Given the description of an element on the screen output the (x, y) to click on. 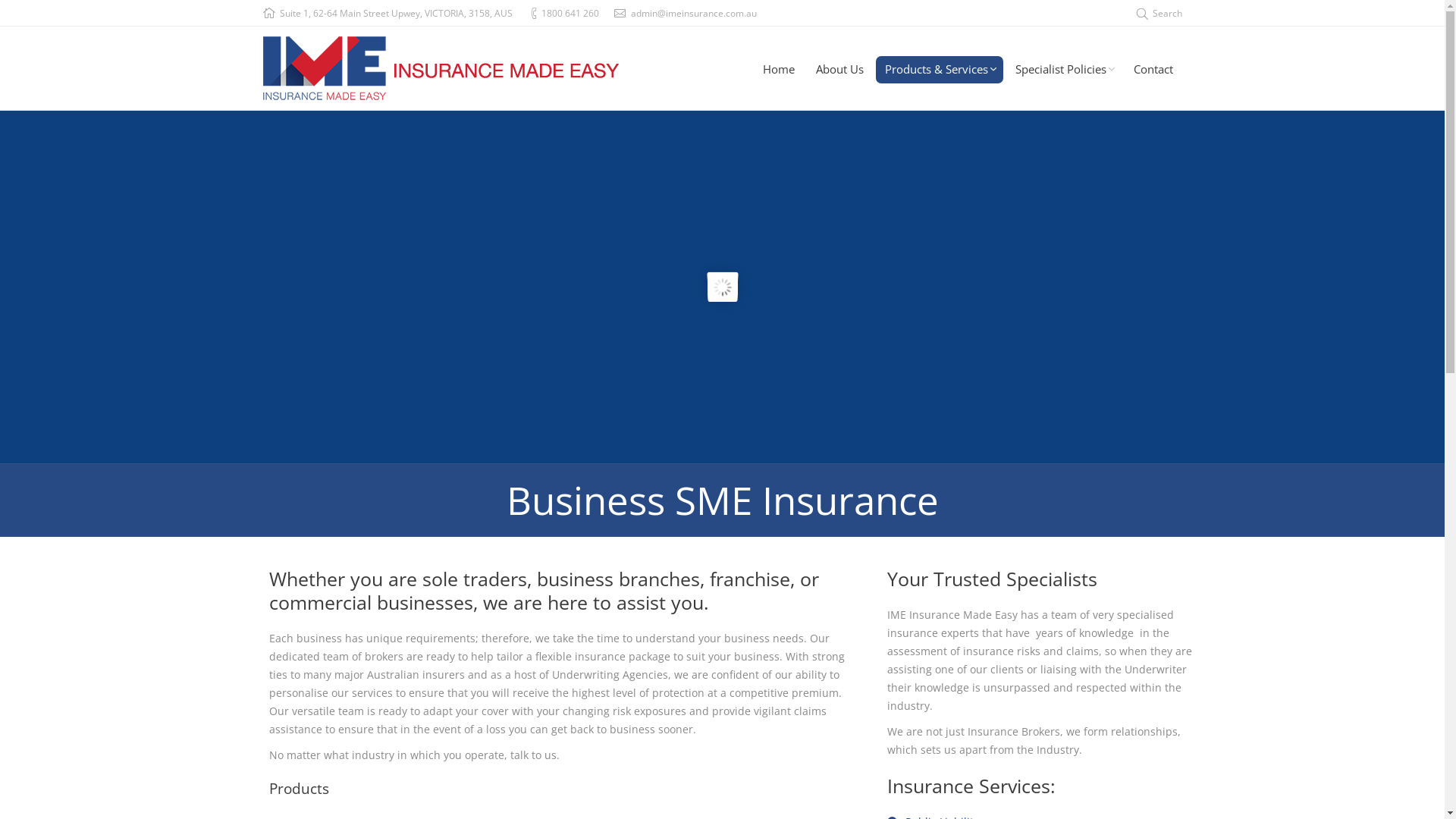
Contact Element type: text (1152, 69)
About Us Element type: text (839, 69)
Search Element type: text (1158, 13)
Home Element type: text (778, 69)
Products & Services Element type: text (938, 69)
Go! Element type: text (16, 13)
Specialist Policies Element type: text (1062, 69)
